Given the description of an element on the screen output the (x, y) to click on. 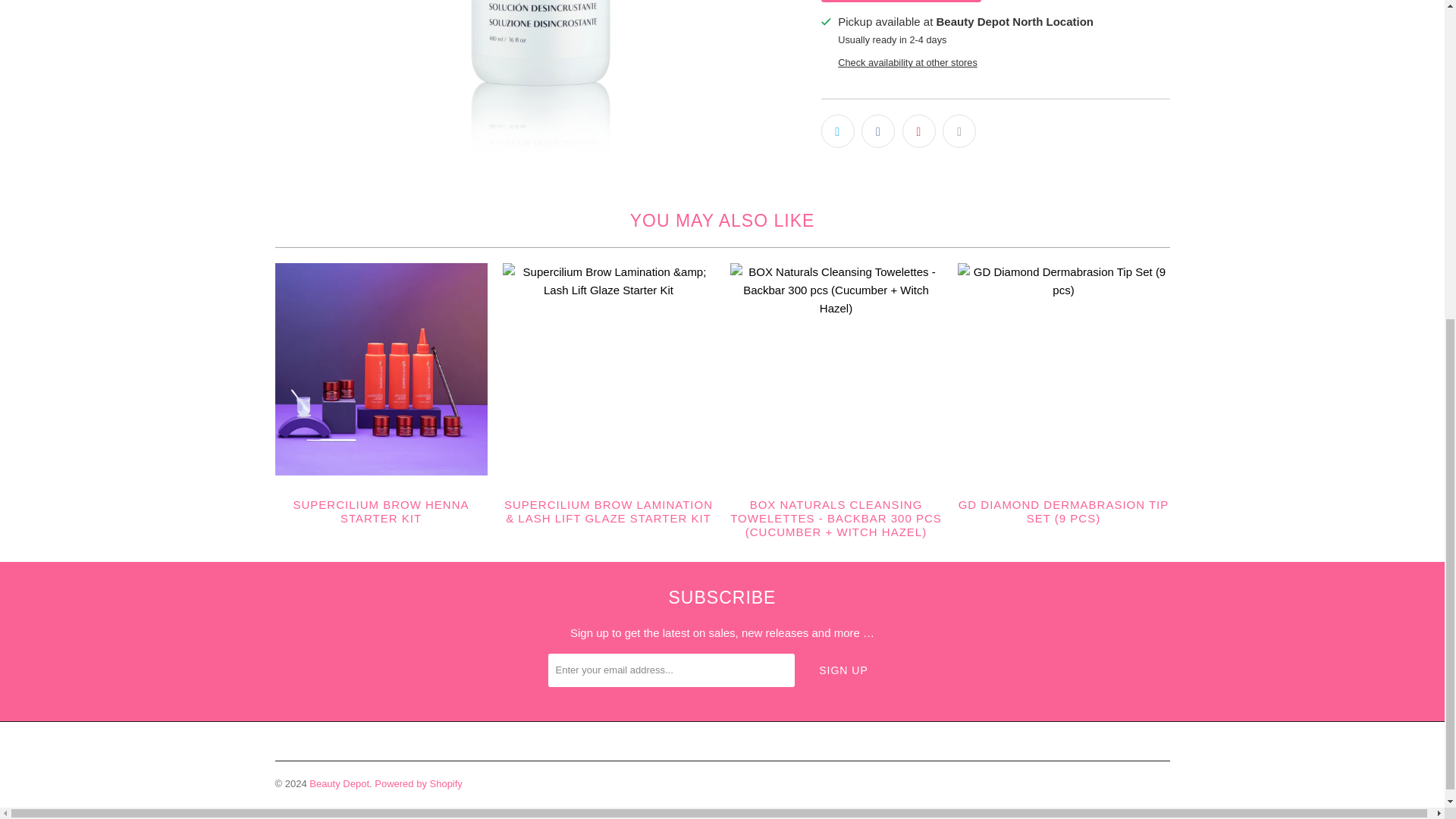
Sign Up (842, 670)
Email this to a friend (958, 131)
Share this on Facebook (878, 131)
Share this on Pinterest (919, 131)
Share this on Twitter (837, 131)
